Given the description of an element on the screen output the (x, y) to click on. 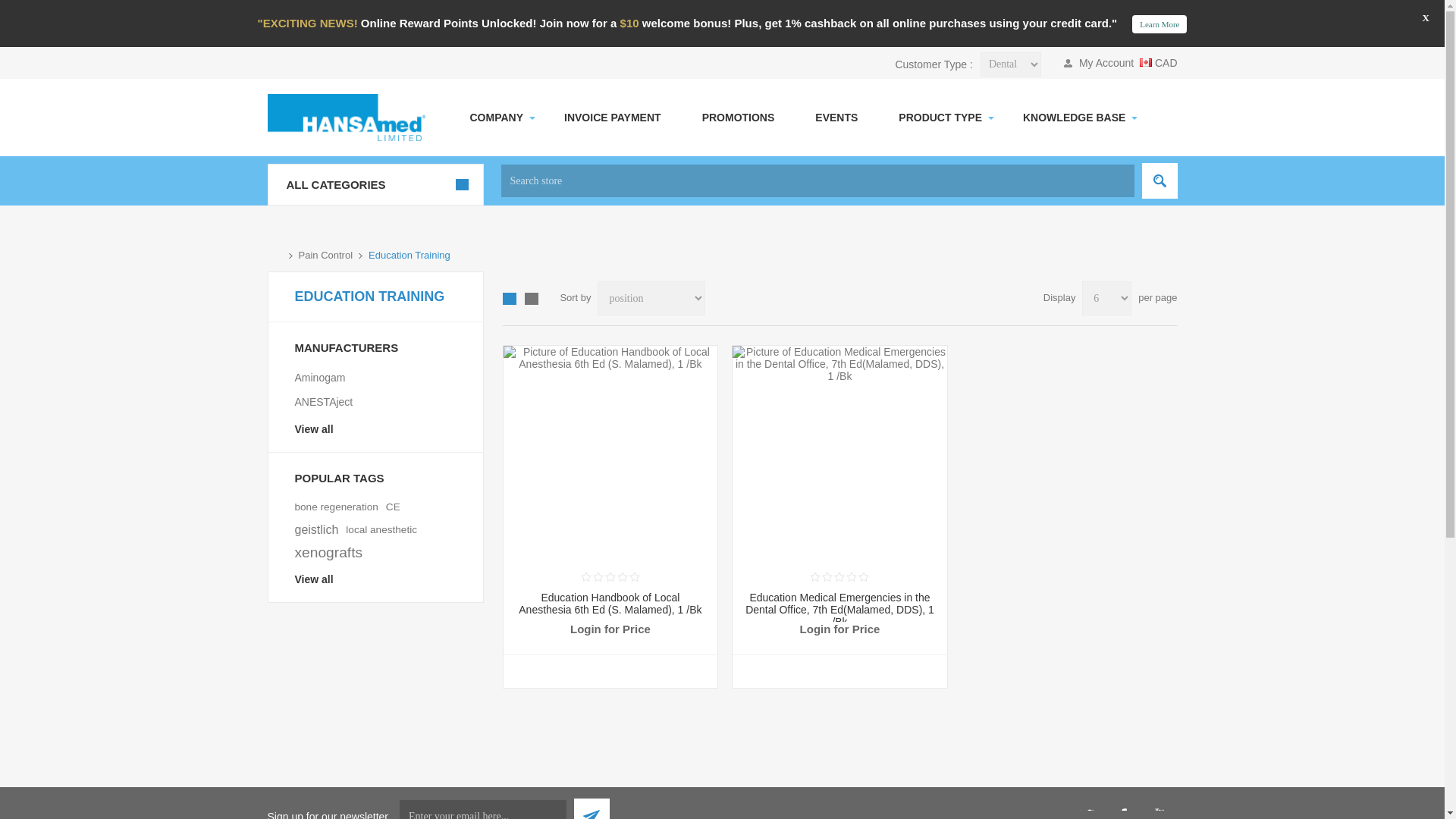
Prices are in Canadian Dollars (1159, 23)
Learn More (1158, 62)
